Given the description of an element on the screen output the (x, y) to click on. 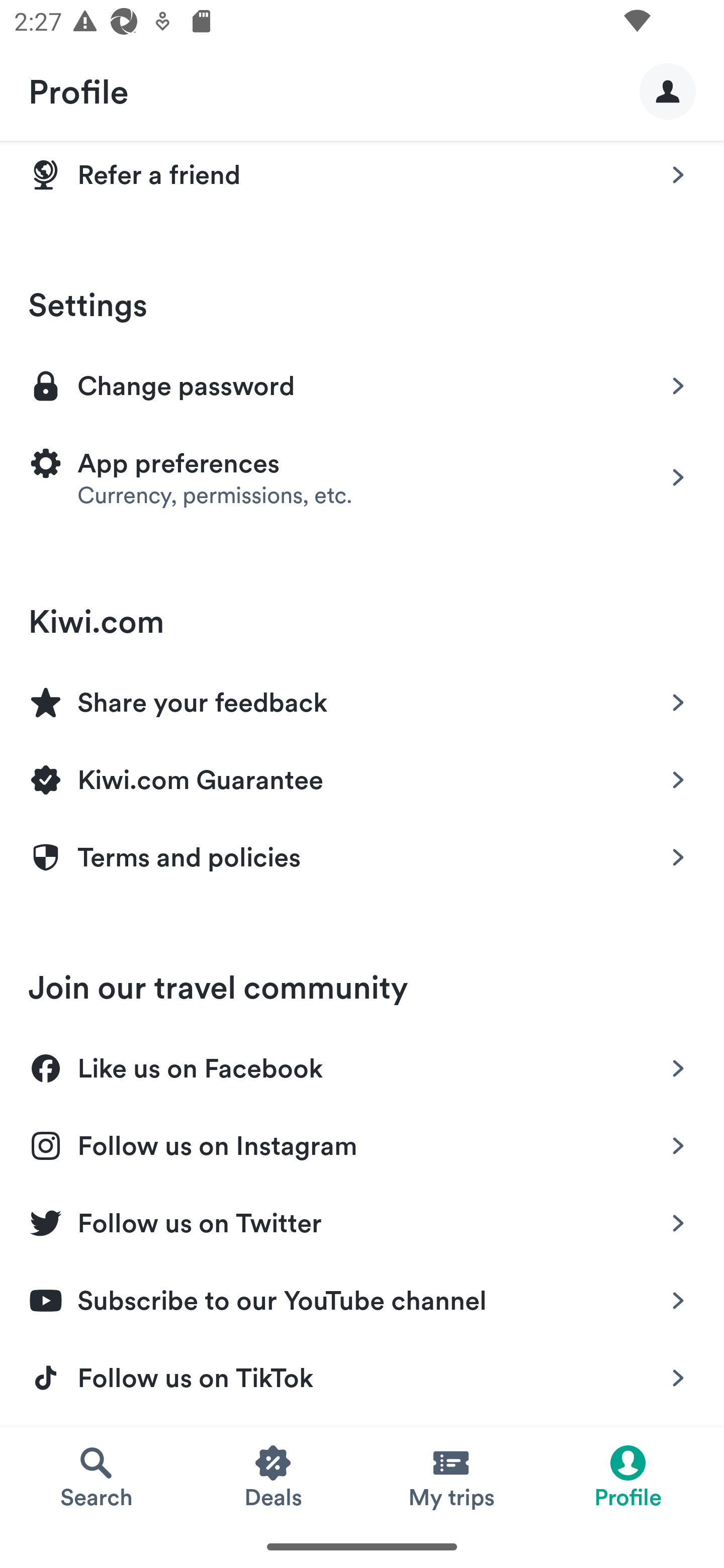
profile picture (667, 90)
Refer a friend (362, 178)
Change password (362, 383)
App preferences Currency, permissions, etc. (362, 476)
Share your feedback (362, 699)
Kiwi.com Guarantee (362, 776)
Terms and policies (362, 857)
Like us on Facebook (362, 1064)
Follow us on Instagram (362, 1141)
Follow us on Twitter (362, 1219)
Subscribe to our YouTube channel (362, 1297)
Follow us on TikTok (362, 1377)
Search (95, 1475)
Deals (273, 1475)
My trips (450, 1475)
